Given the description of an element on the screen output the (x, y) to click on. 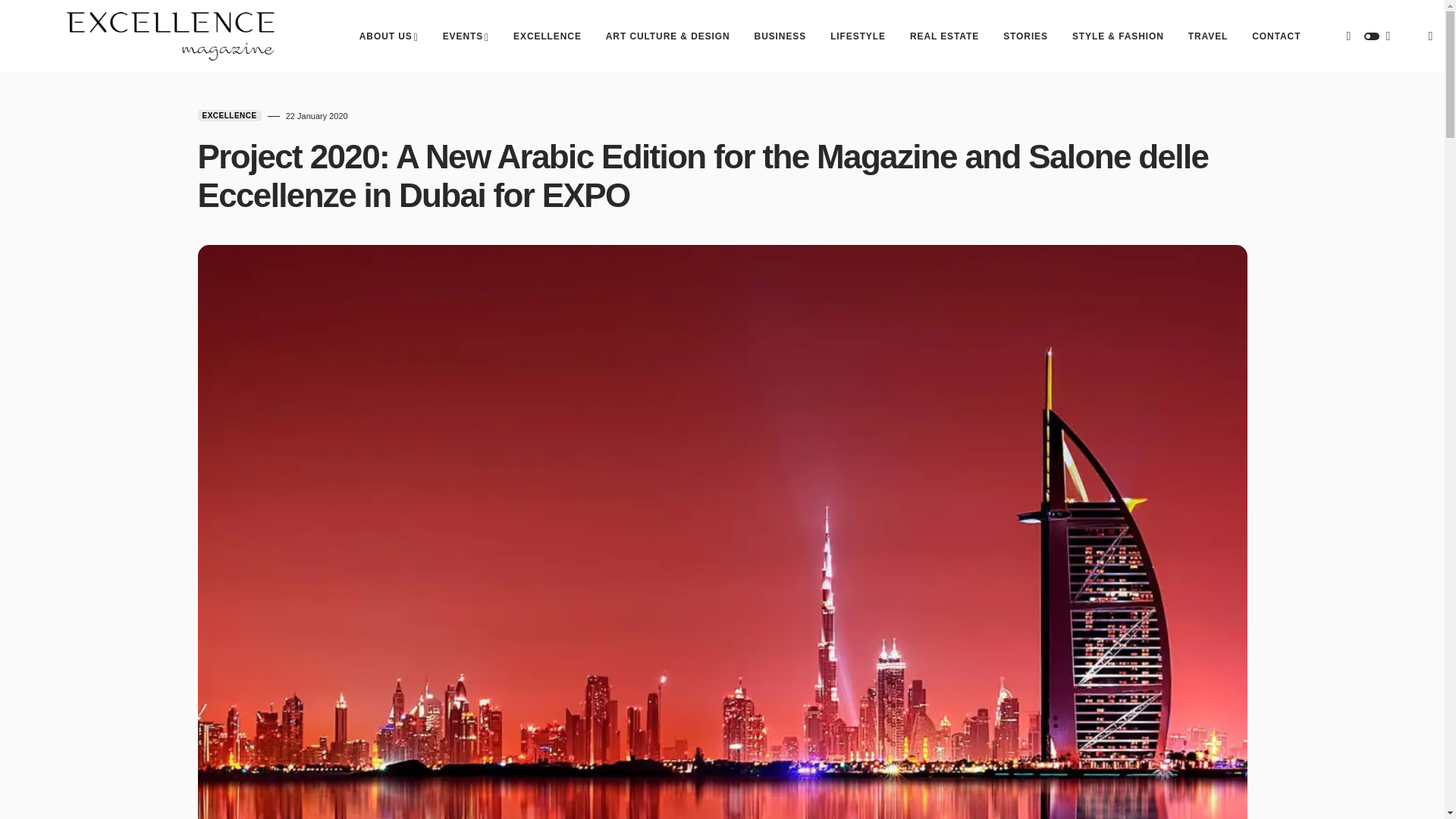
REAL ESTATE (944, 36)
EXCELLENCE (546, 36)
